Given the description of an element on the screen output the (x, y) to click on. 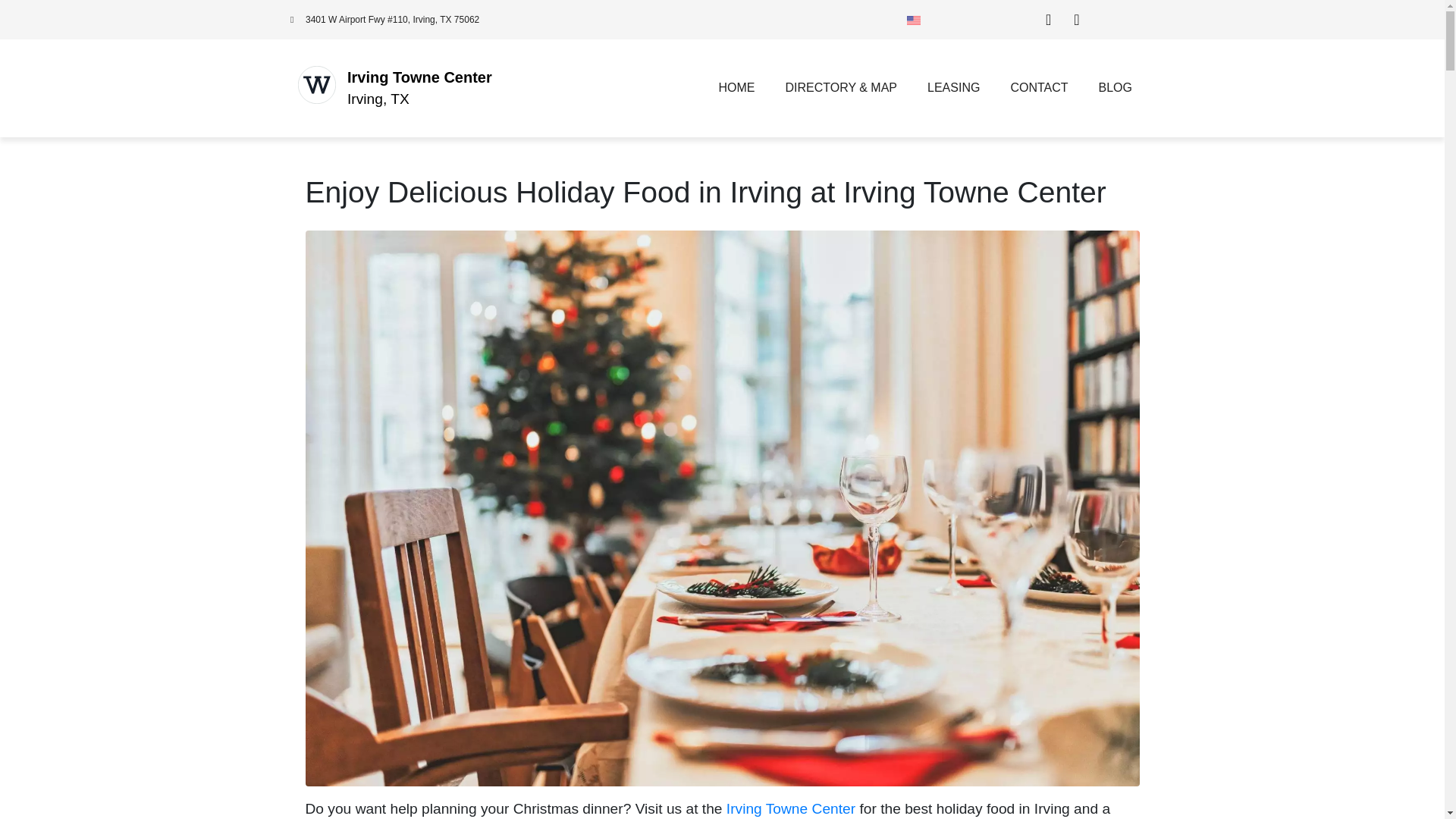
Irving Towne Center (791, 808)
BLOG (1115, 87)
HOME (736, 87)
Irving Towne Center (419, 76)
LEASING (953, 87)
CONTACT (1038, 87)
